Given the description of an element on the screen output the (x, y) to click on. 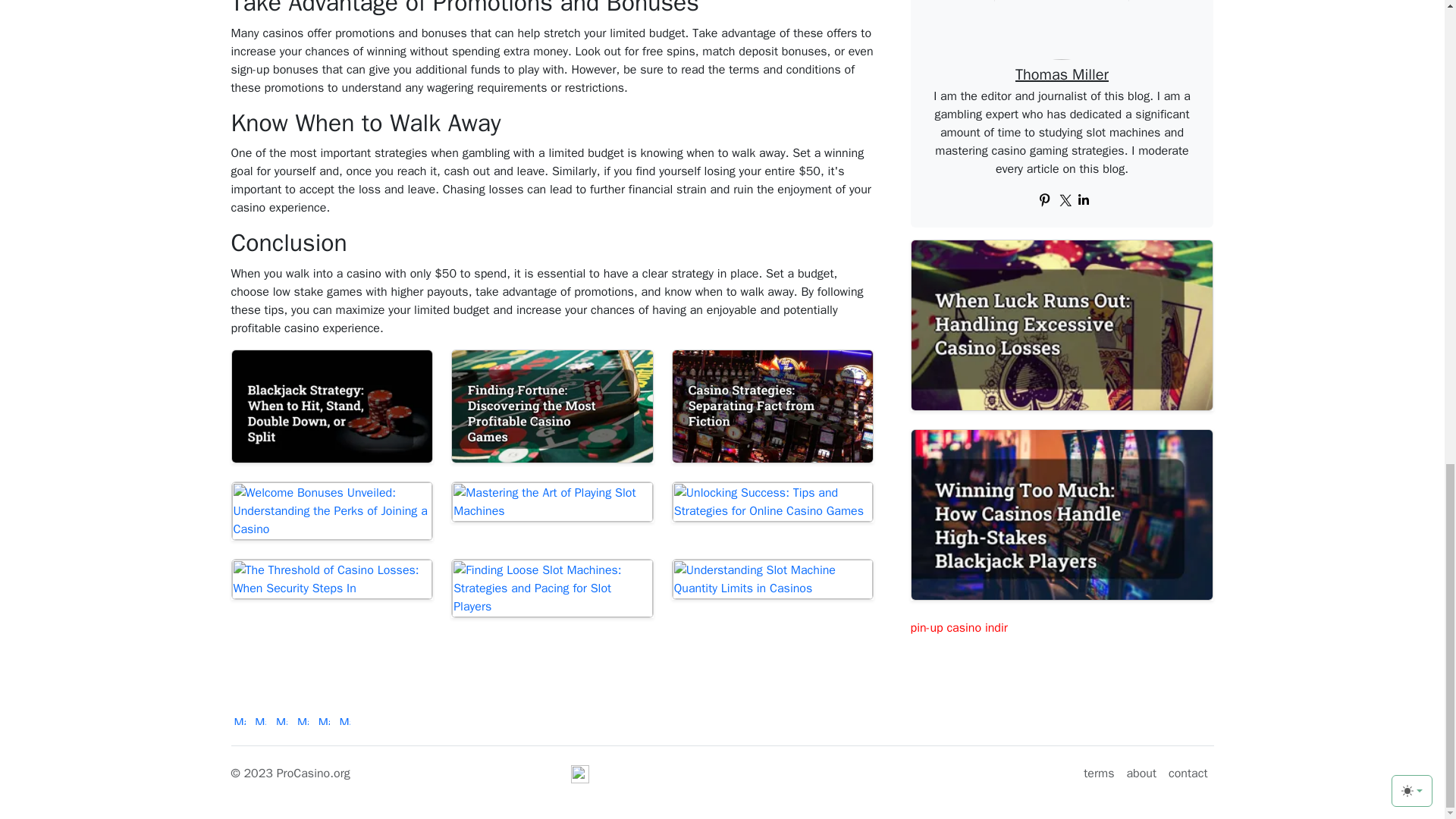
contact (1186, 773)
about (1140, 773)
terms (1098, 773)
